Given the description of an element on the screen output the (x, y) to click on. 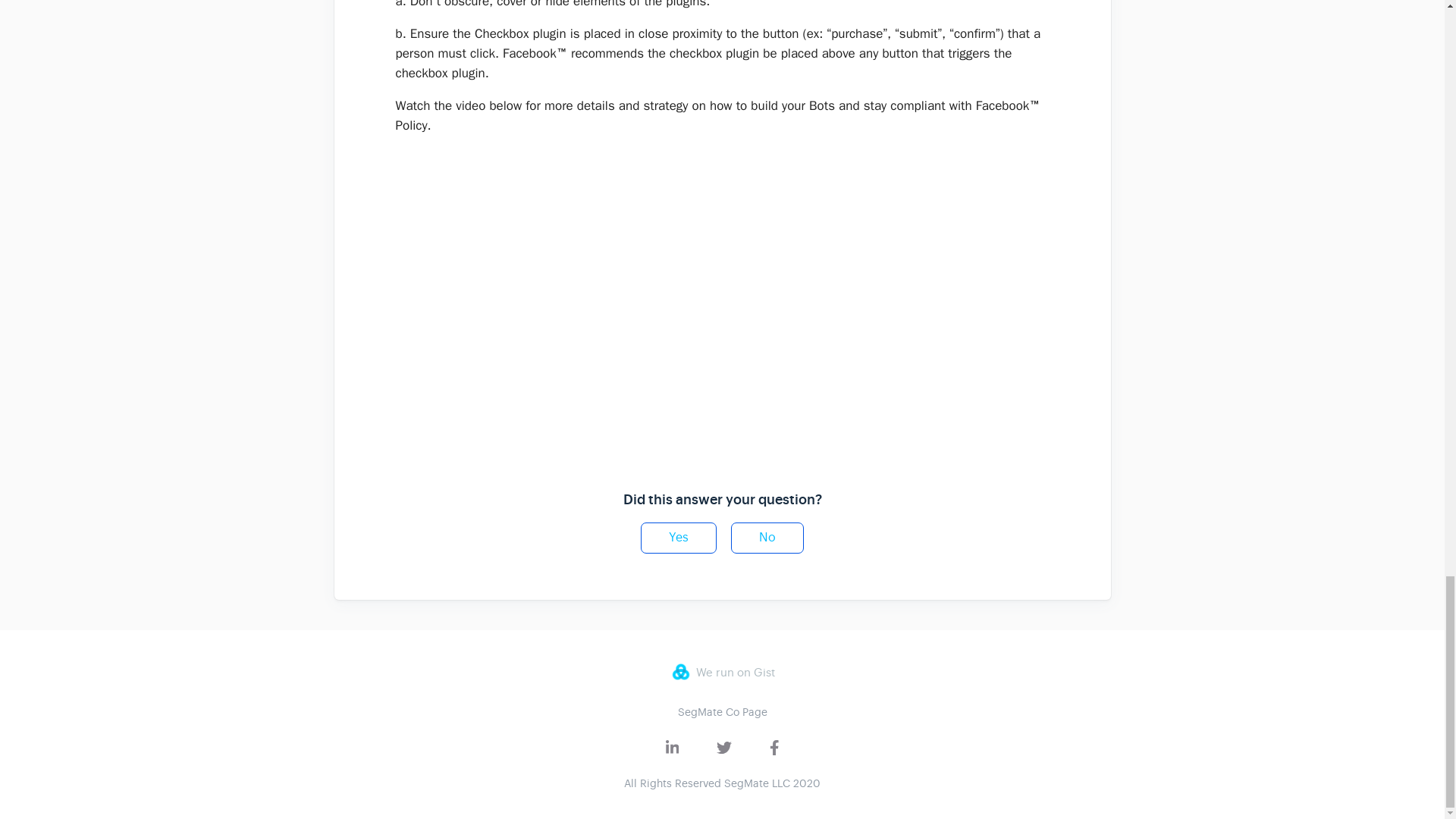
SegMate Co Page (722, 712)
We run on Gist (721, 671)
Yes (678, 537)
No (766, 537)
